Given the description of an element on the screen output the (x, y) to click on. 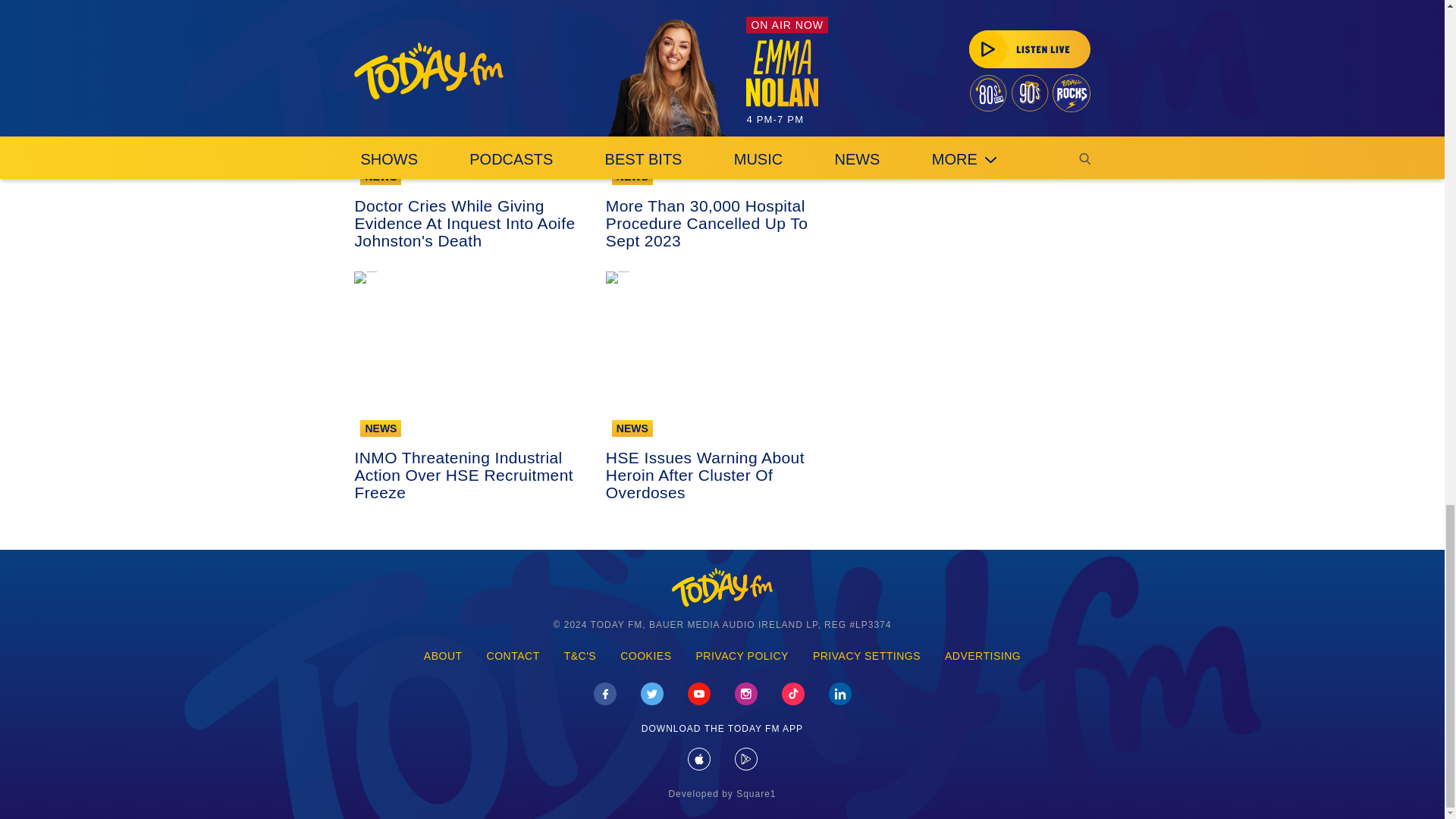
Privacy settings (866, 656)
Privacy Policy (742, 656)
Advertising (982, 656)
Contact (512, 656)
About (443, 656)
Cookies (645, 656)
